Given the description of an element on the screen output the (x, y) to click on. 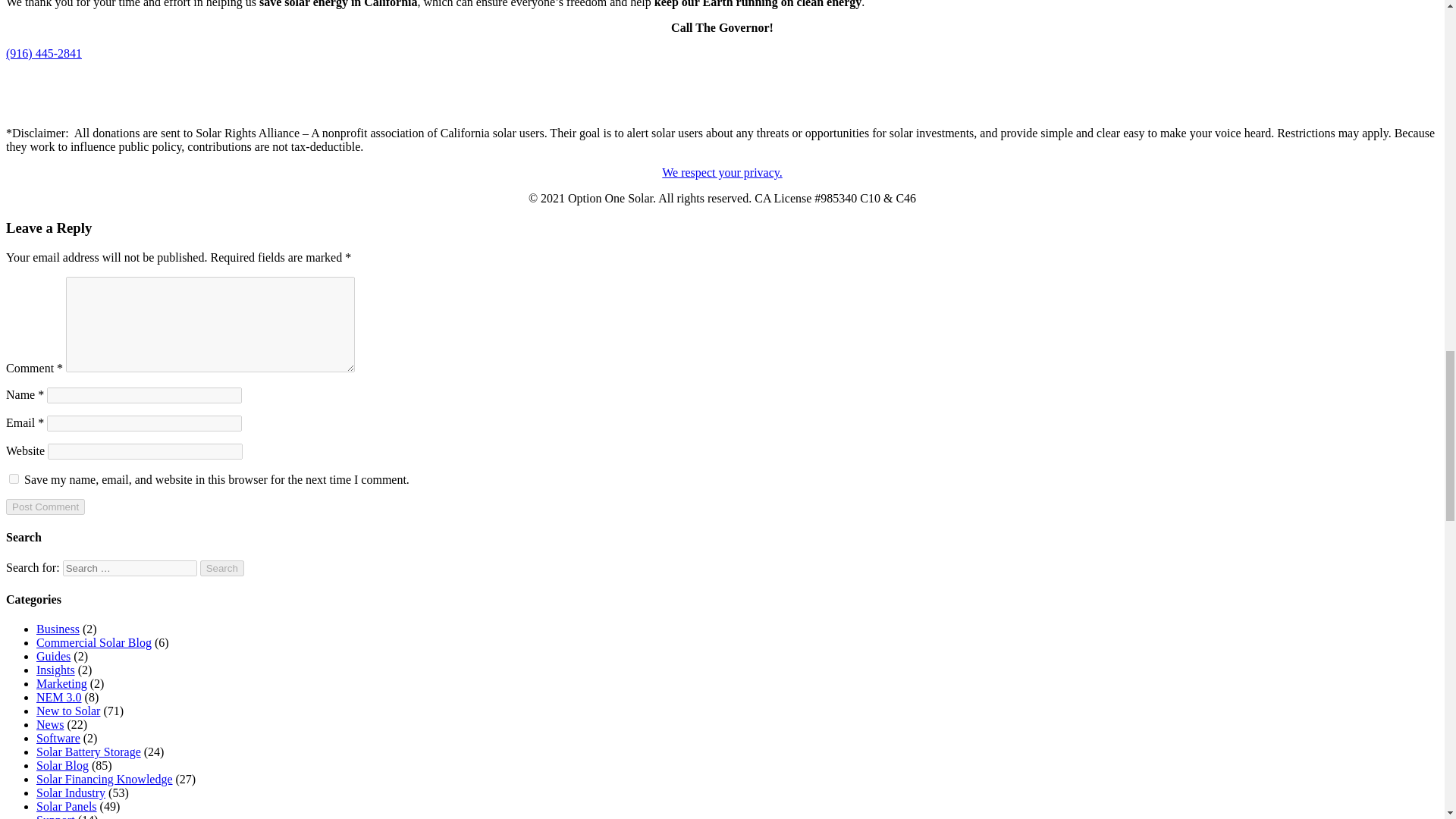
yes (13, 479)
Search (222, 568)
Post Comment (44, 506)
Search (222, 568)
